Given the description of an element on the screen output the (x, y) to click on. 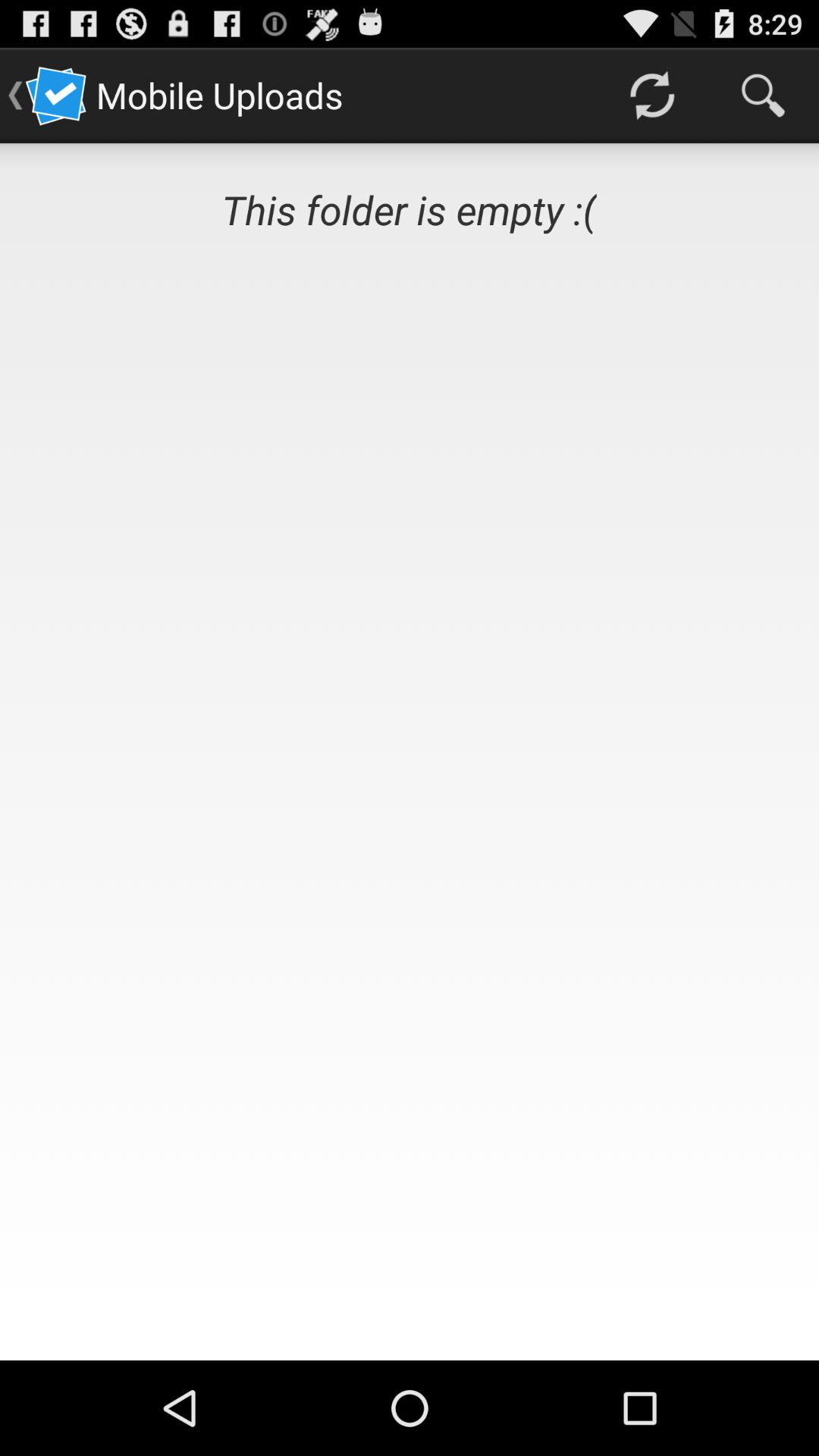
select the app above this folder is item (651, 95)
